Given the description of an element on the screen output the (x, y) to click on. 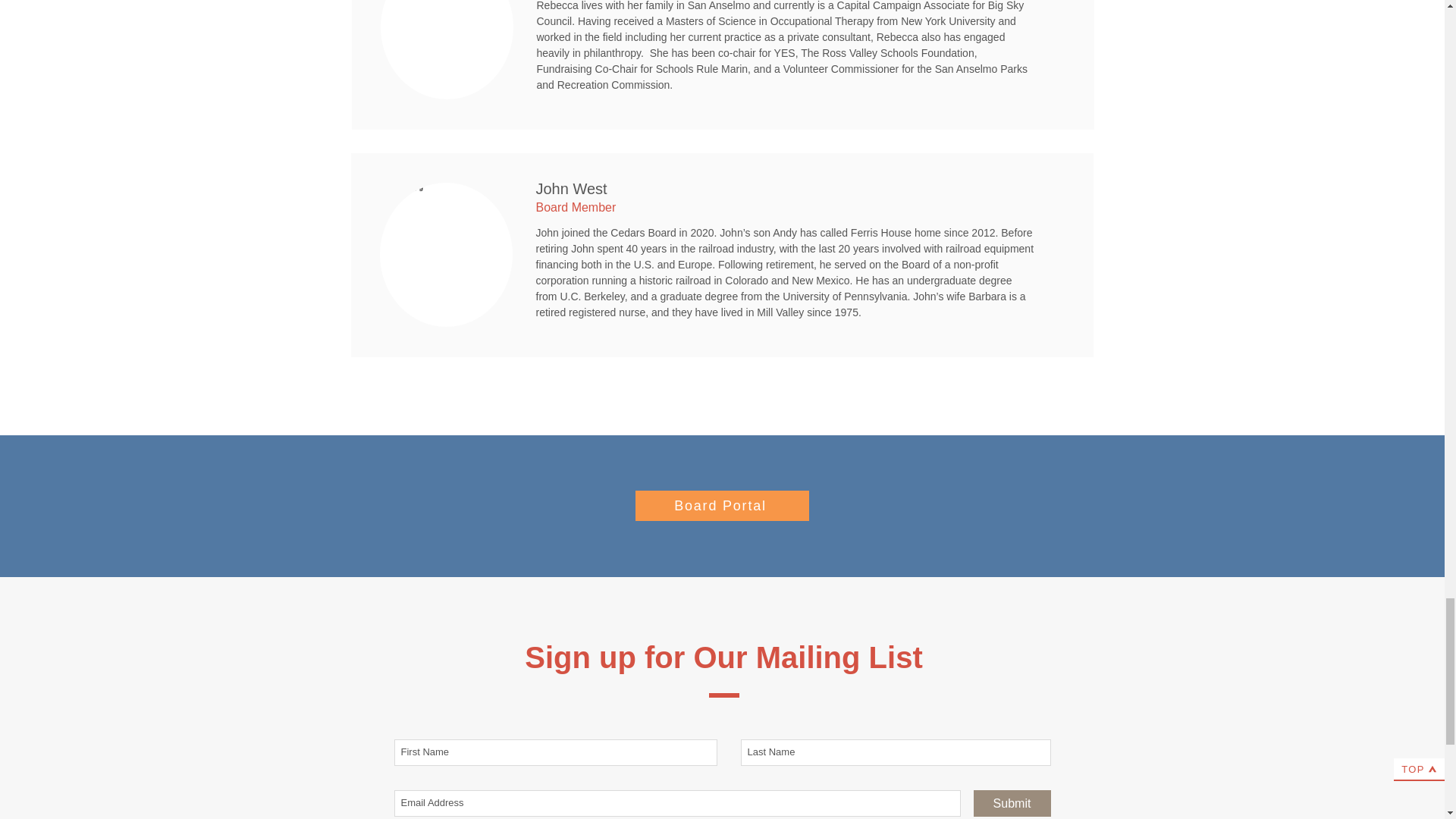
Submit (1012, 803)
Board Portal (721, 505)
guy2.jpg (445, 254)
guy2.jpg (446, 49)
